Given the description of an element on the screen output the (x, y) to click on. 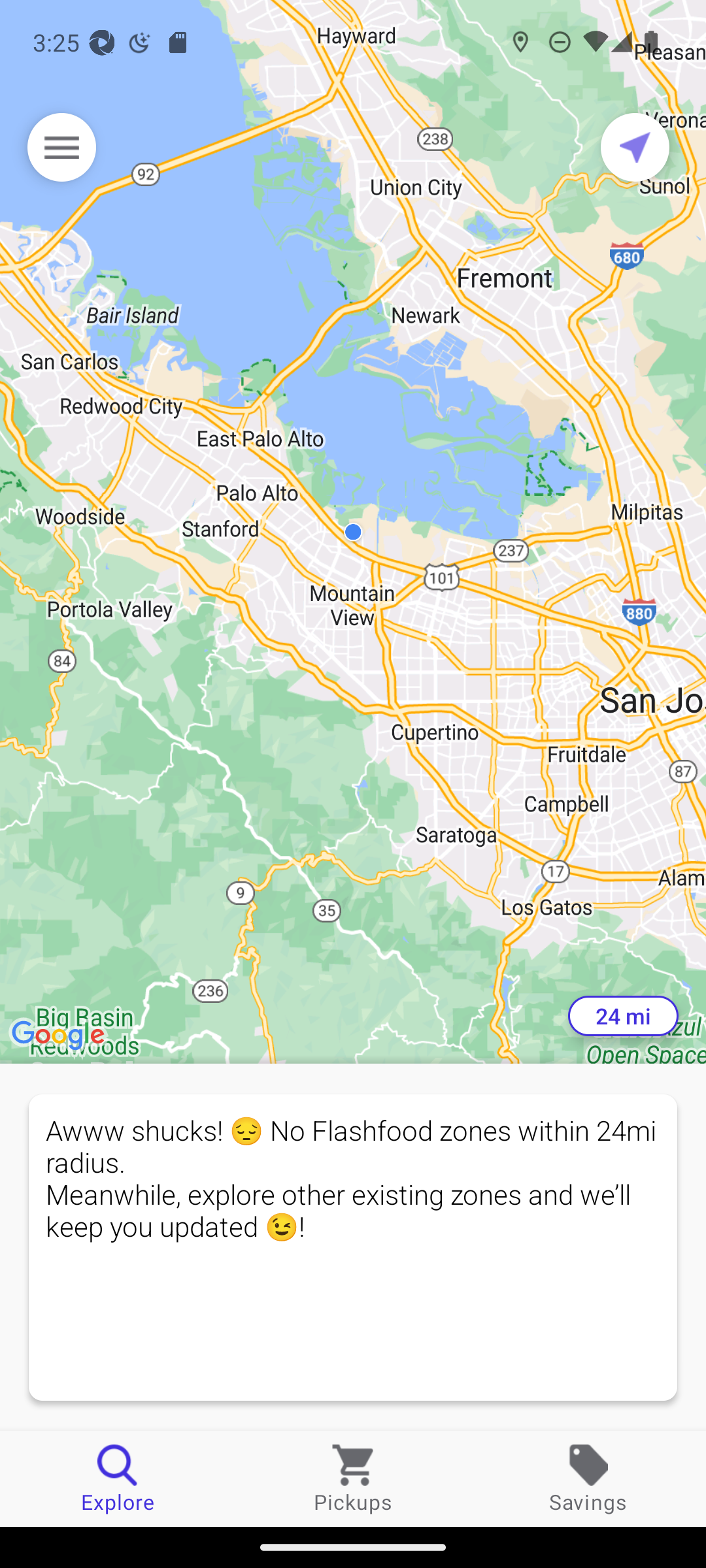
Menu (61, 146)
Current location (634, 146)
24 mi (623, 1015)
Pickups (352, 1478)
Savings (588, 1478)
